Given the description of an element on the screen output the (x, y) to click on. 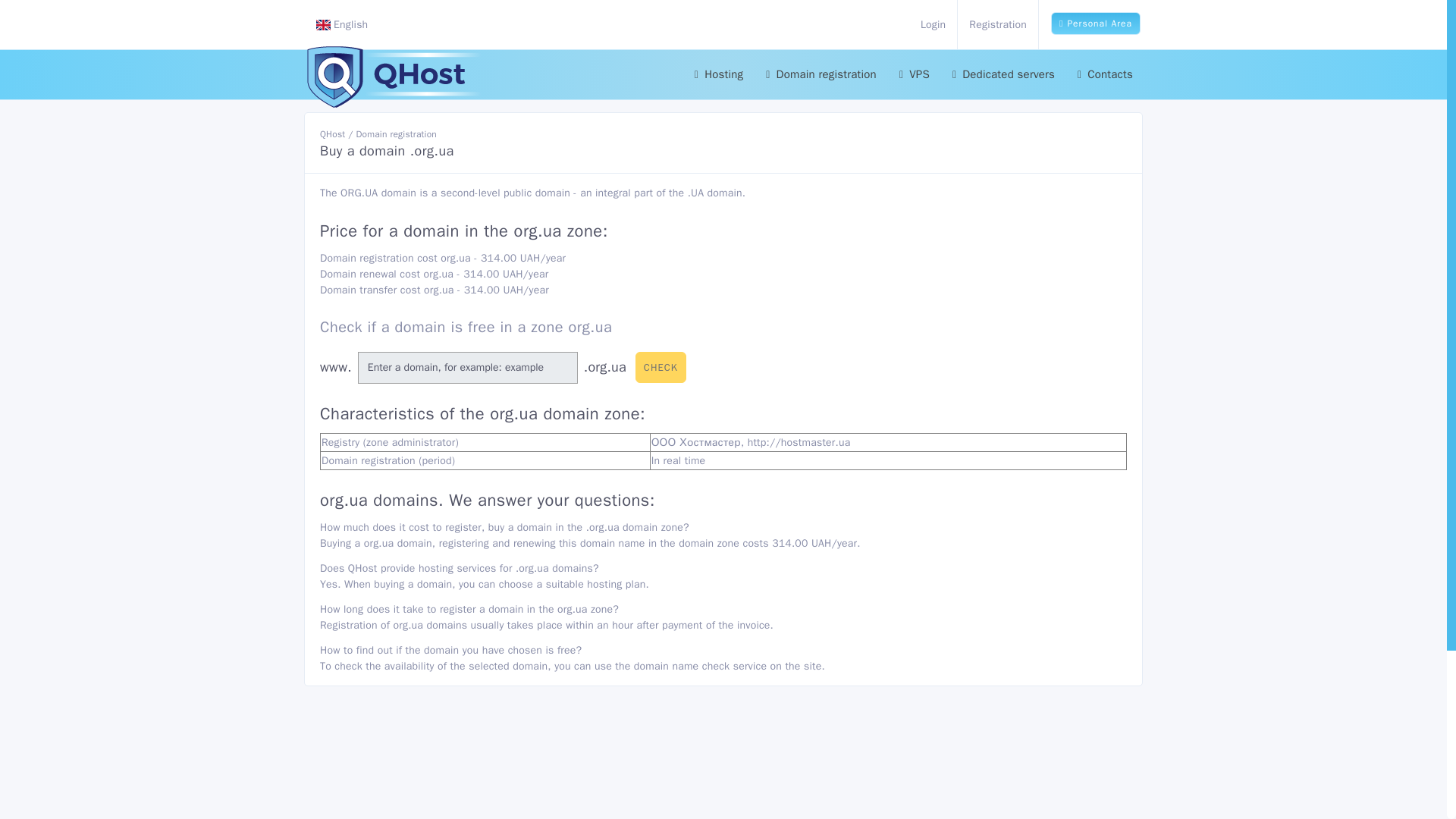
Domain registration (395, 133)
Dedicated servers (1002, 74)
Personal Area (1095, 23)
Check if a domain is free in a zone org.ua (465, 326)
Domain registration (821, 74)
VPS (914, 74)
CHECK (659, 368)
English (343, 24)
Contacts (1104, 74)
QHost (332, 133)
Registration (998, 24)
Login (932, 24)
Hosting (712, 74)
